Given the description of an element on the screen output the (x, y) to click on. 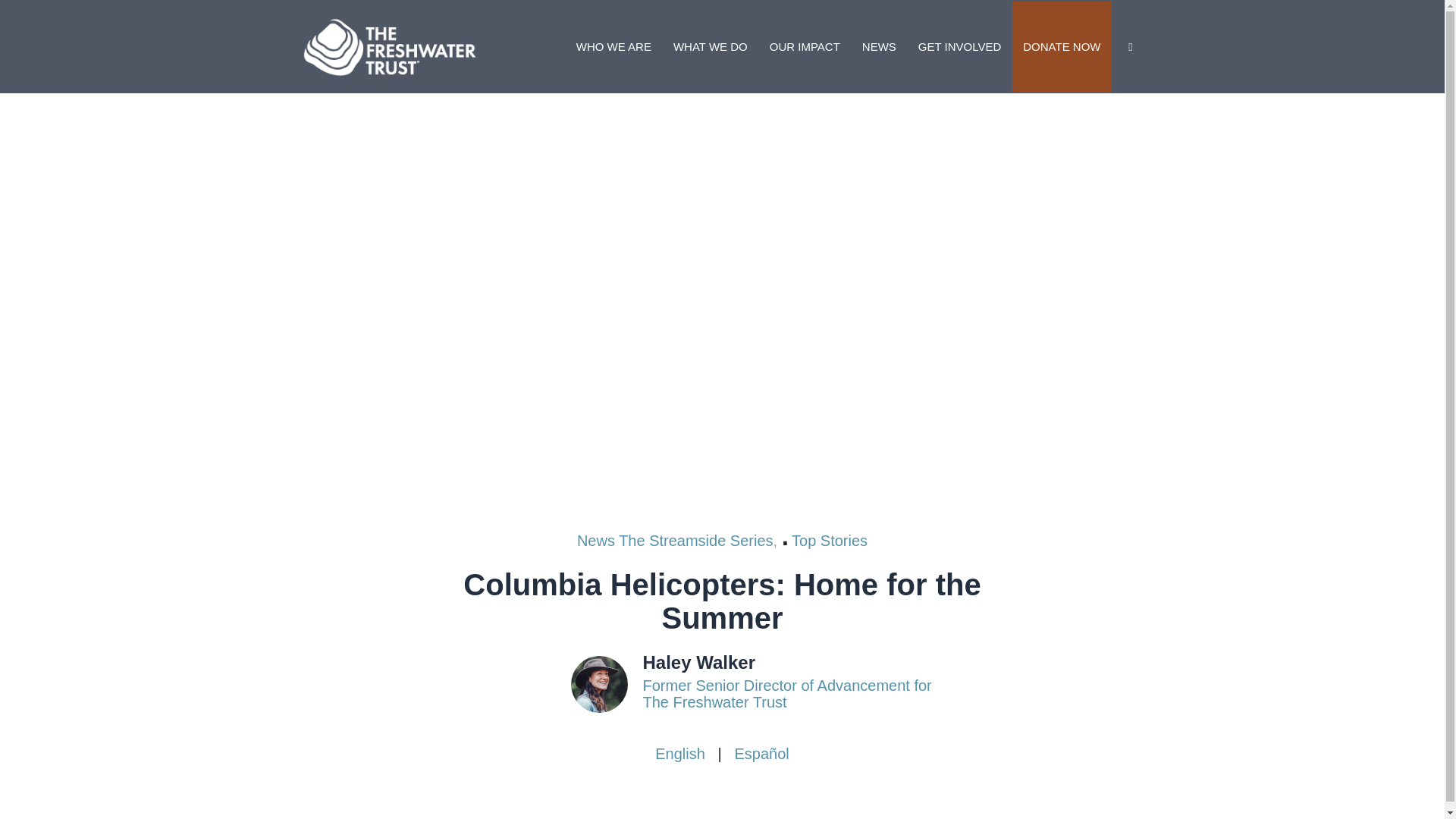
DONATE NOW (1060, 46)
English (679, 753)
OUR IMPACT (804, 46)
WHAT WE DO (710, 46)
GET INVOLVED (959, 46)
WHO WE ARE (614, 46)
